Given the description of an element on the screen output the (x, y) to click on. 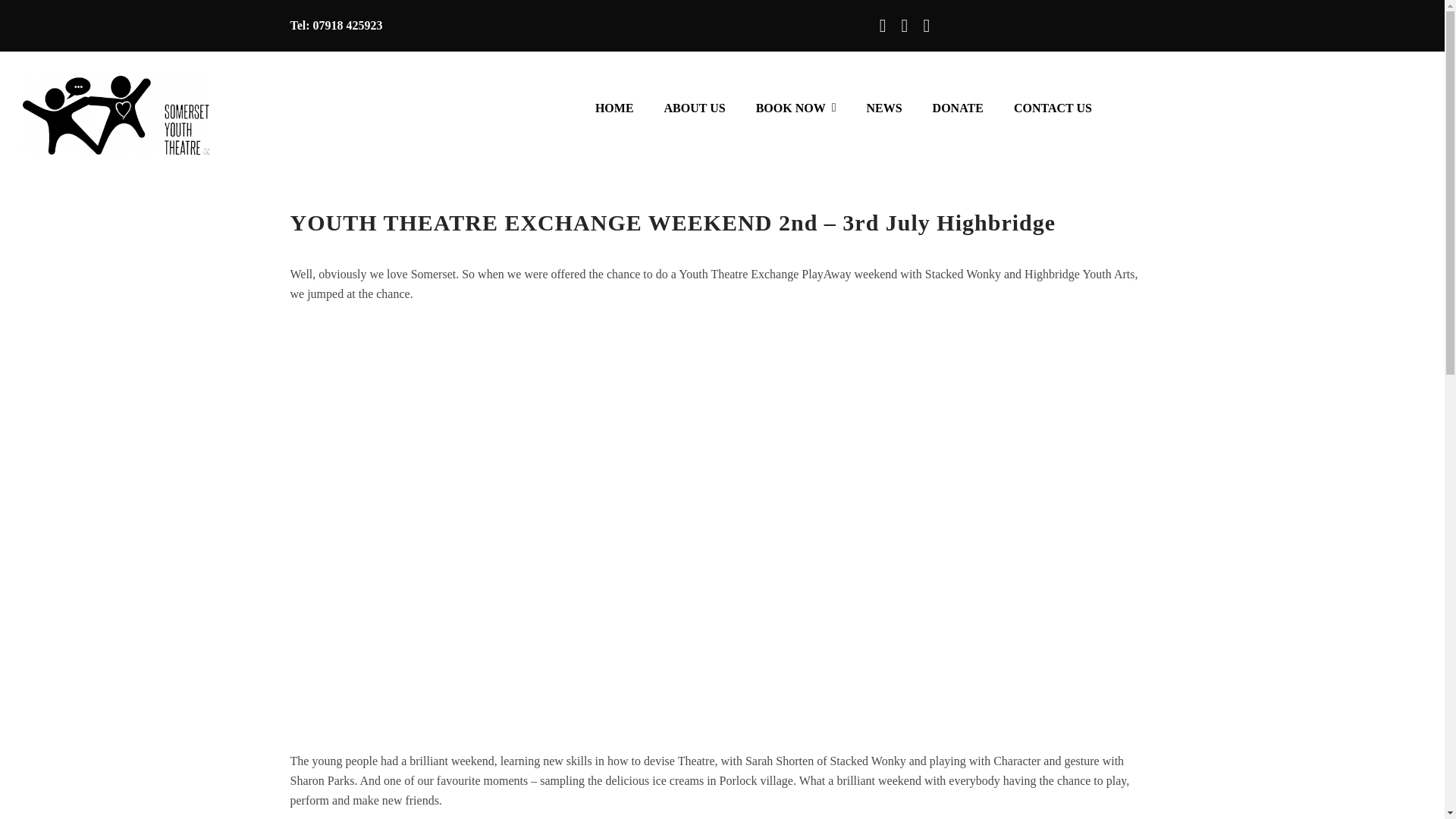
ABOUT US (694, 109)
Somerset Youth Theatre Exchange Weekend (1010, 627)
Somerset Youth Theatre Exchange Weekend (505, 815)
DONATE (958, 109)
Somerset Youth Theatre Exchange Weekend (1010, 411)
Somerset Youth Theatre Exchange Weekend (938, 815)
CONTACT US (1052, 109)
BOOK NOW (795, 109)
